Given the description of an element on the screen output the (x, y) to click on. 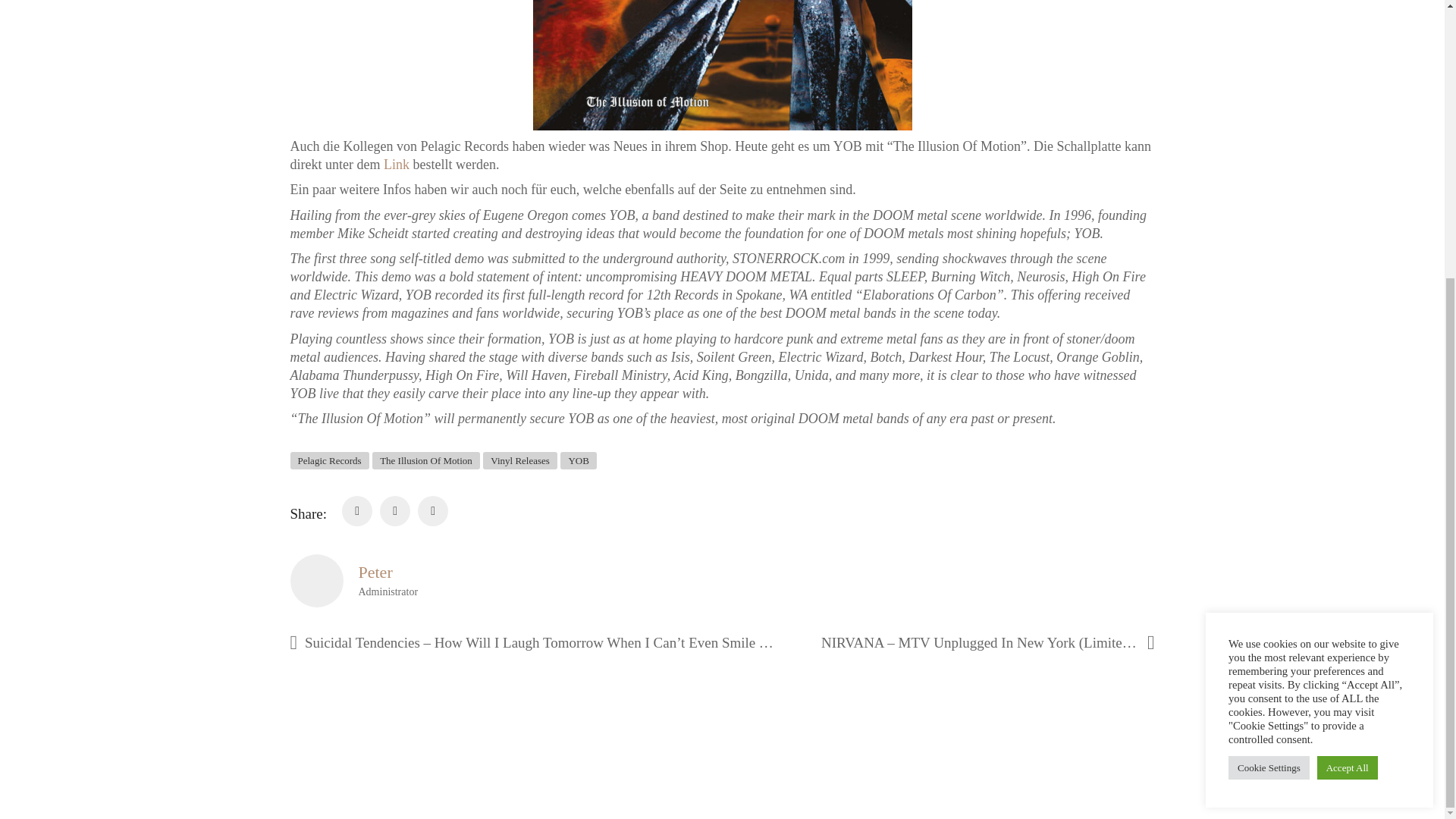
Link (396, 164)
Pelagic Records (328, 460)
The Illusion Of Motion (426, 460)
Vinyl Releases (520, 460)
YOB (577, 460)
